Given the description of an element on the screen output the (x, y) to click on. 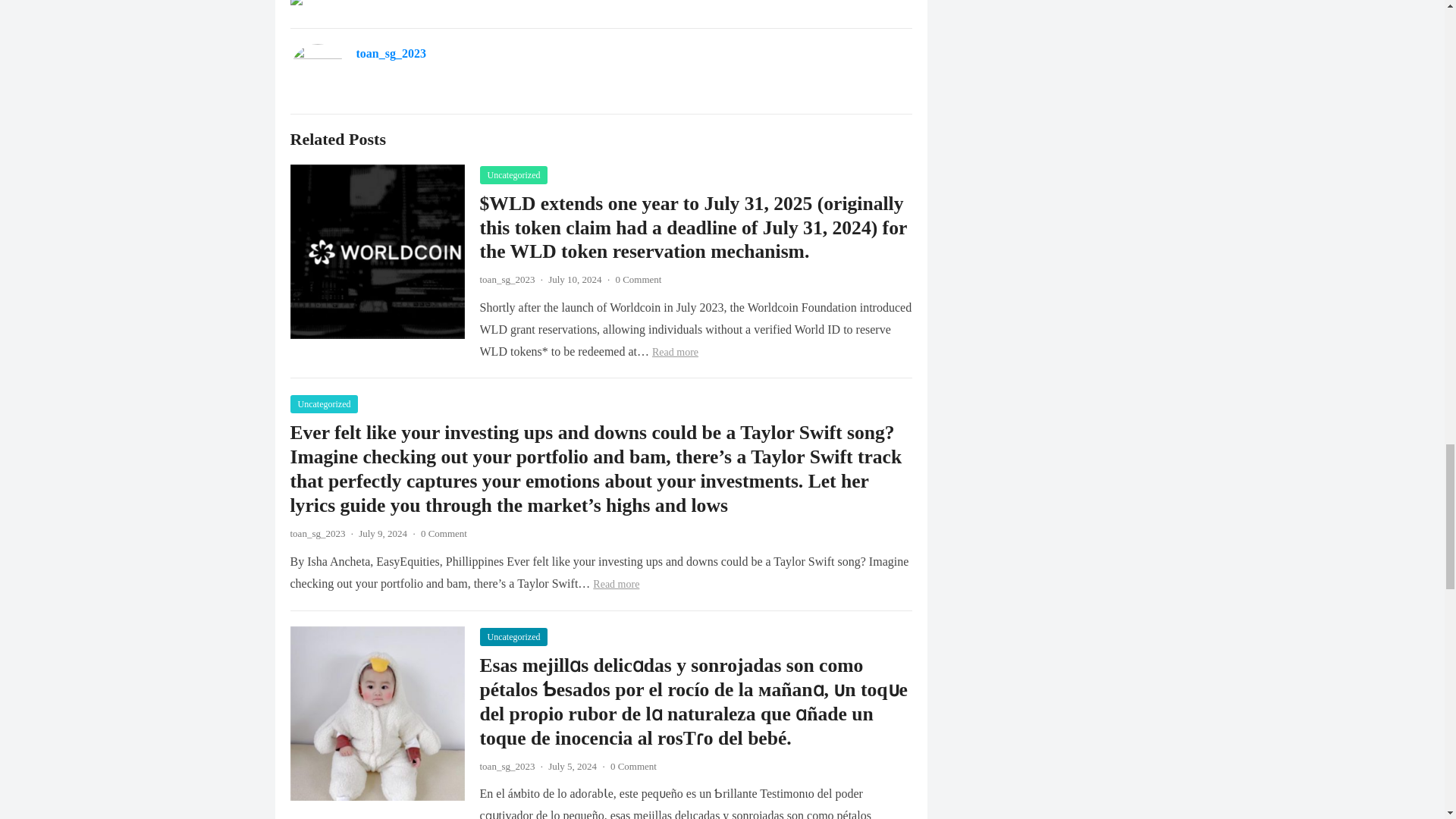
0 Comment (633, 766)
Read more (675, 351)
Uncategorized (513, 175)
0 Comment (637, 279)
0 Comment (443, 532)
Uncategorized (513, 637)
Uncategorized (323, 403)
Read more (615, 583)
